Given the description of an element on the screen output the (x, y) to click on. 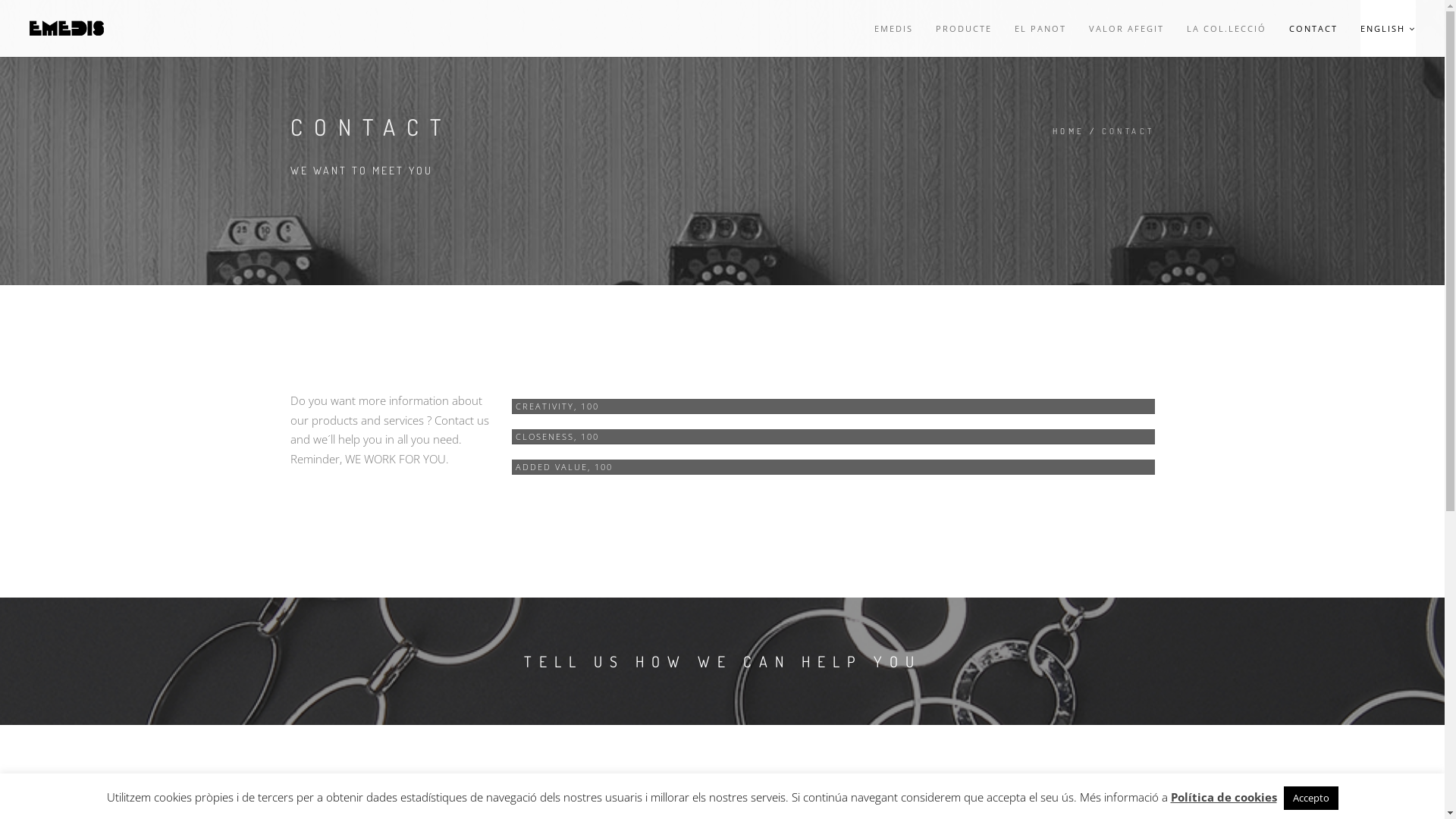
EMEDIS Element type: text (893, 28)
Accepto Element type: text (1310, 797)
VALOR AFEGIT Element type: text (1126, 28)
Emedis Element type: hover (66, 28)
EL PANOT Element type: text (1040, 28)
HOME Element type: text (1068, 131)
PRODUCTE Element type: text (963, 28)
ENGLISH Element type: text (1387, 28)
CONTACT Element type: text (1313, 28)
